Given the description of an element on the screen output the (x, y) to click on. 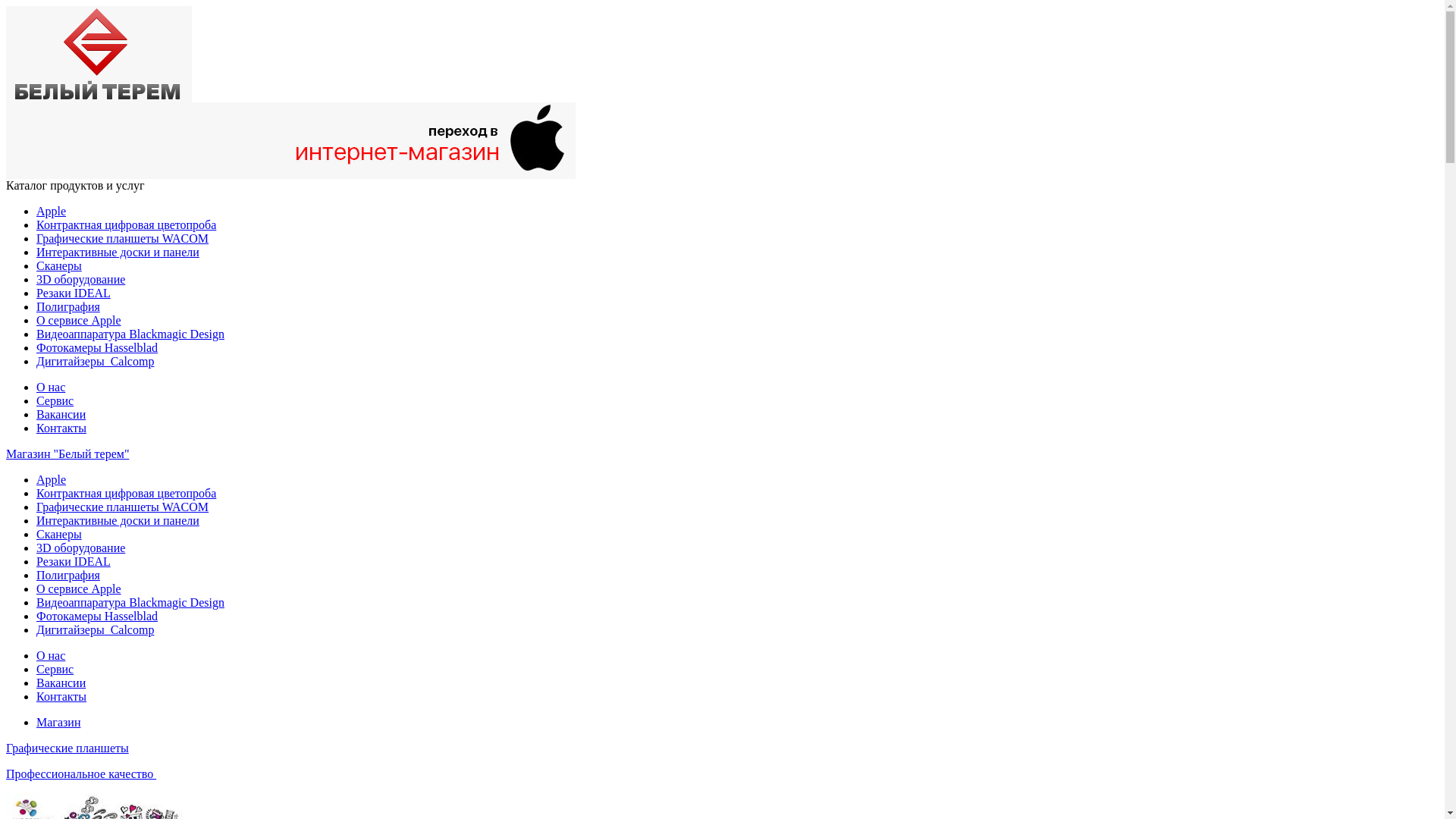
Apple Element type: text (50, 210)
Apple Element type: text (50, 479)
